Given the description of an element on the screen output the (x, y) to click on. 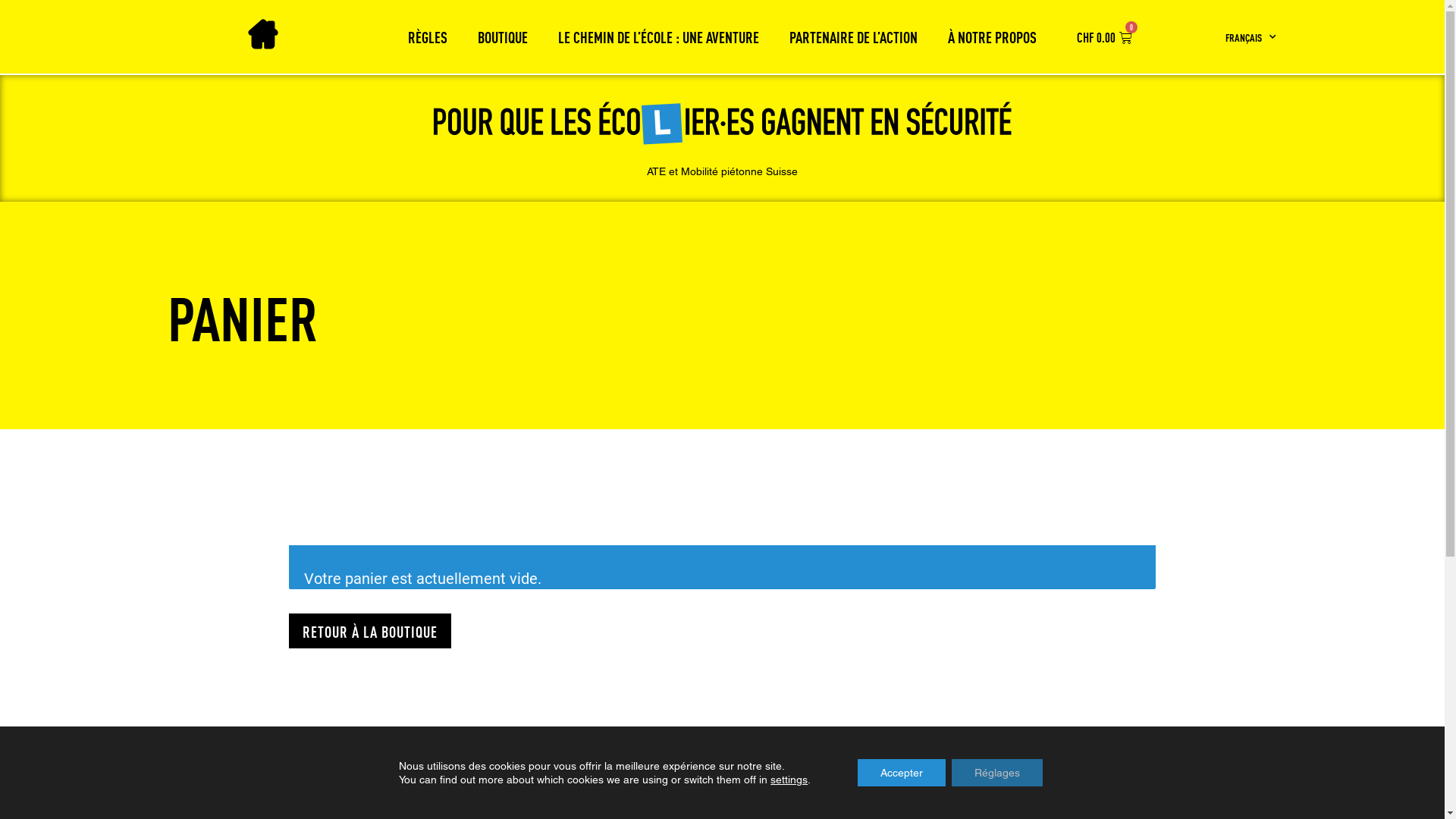
Accepter Element type: text (901, 772)
CHF 0.00
0 Element type: text (1113, 36)
BOUTIQUE Element type: text (502, 36)
